Given the description of an element on the screen output the (x, y) to click on. 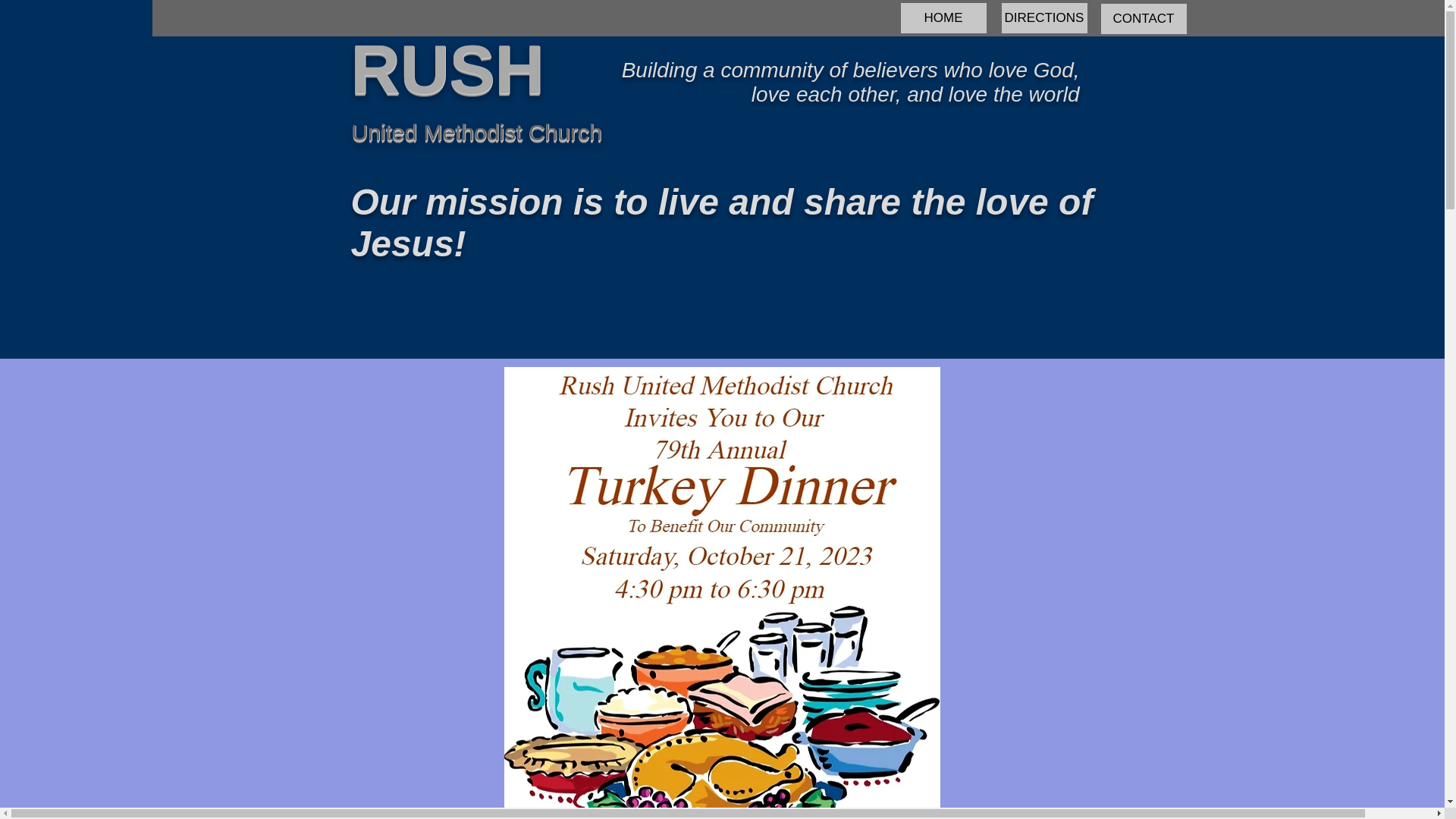
HOME (944, 18)
DIRECTIONS (1043, 18)
CONTACT (1143, 19)
